Given the description of an element on the screen output the (x, y) to click on. 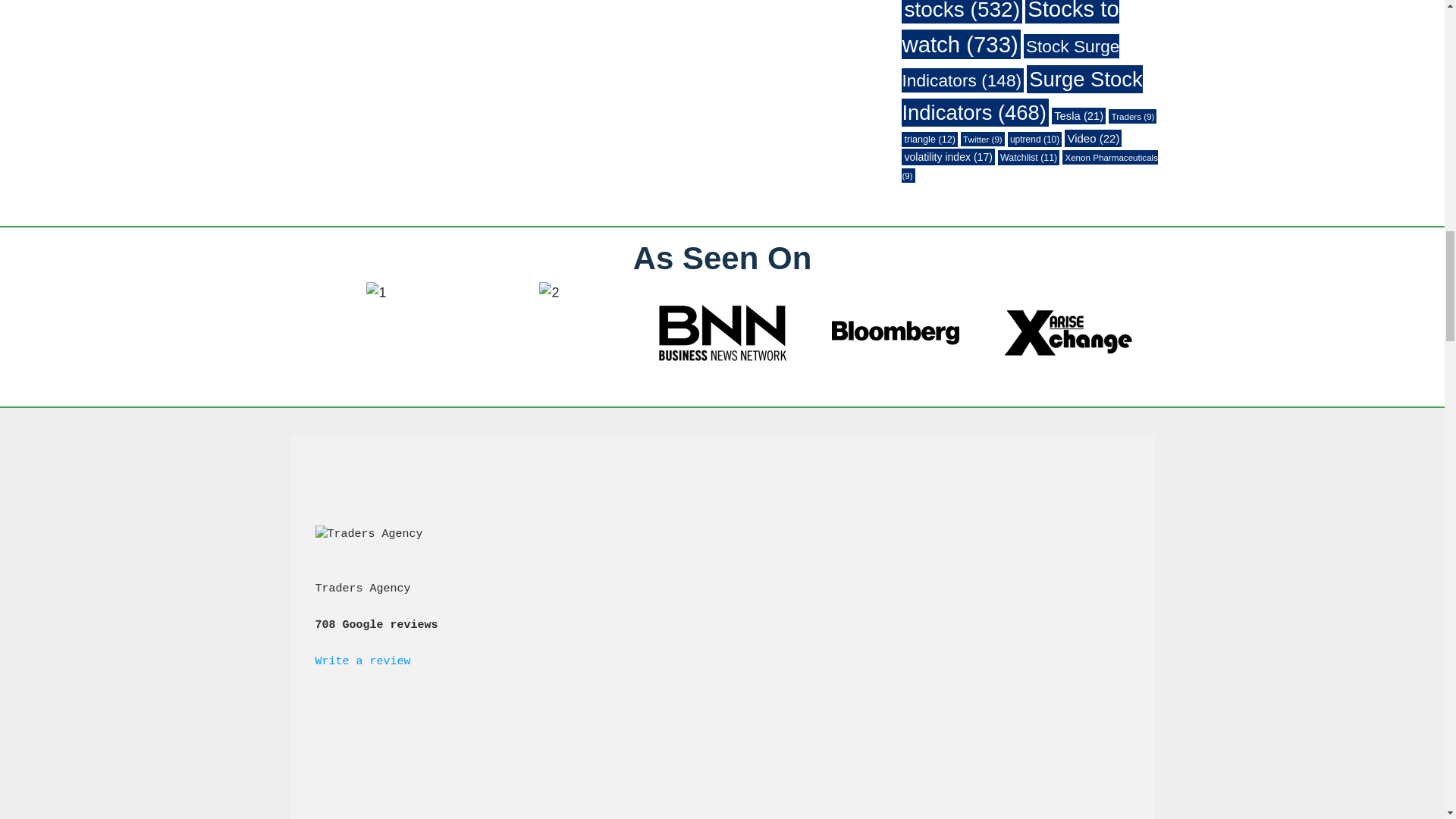
2 (548, 292)
1 (375, 292)
